Given the description of an element on the screen output the (x, y) to click on. 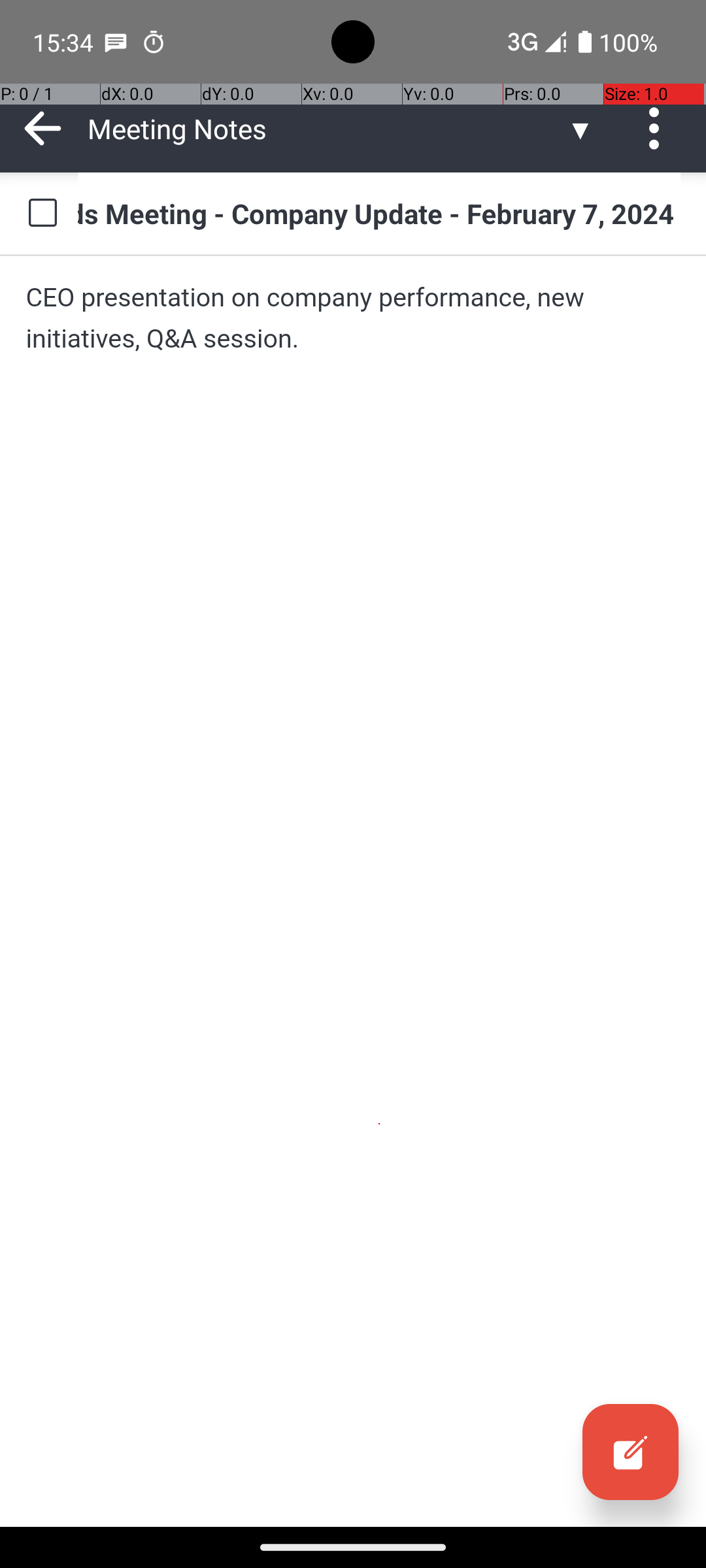
All-Hands Meeting - Company Update - February 7, 2024 Element type: android.widget.EditText (378, 213)
CEO presentation on company performance, new initiatives, Q&A session. Element type: android.widget.TextView (352, 317)
